Given the description of an element on the screen output the (x, y) to click on. 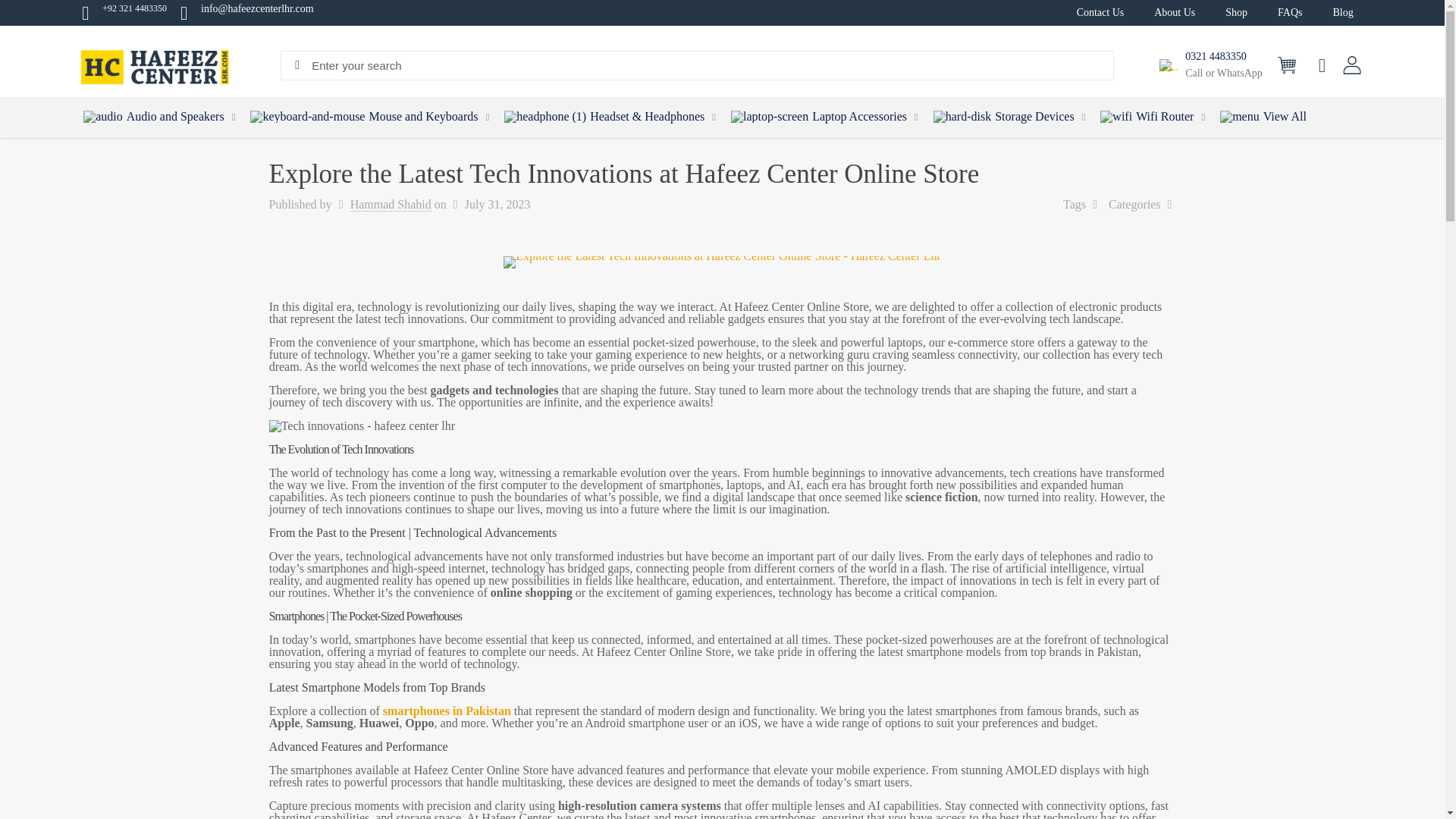
HC Wishlist (1322, 65)
FAQs (1289, 12)
Tech innovations (361, 426)
Blog (1342, 12)
About Us (1173, 12)
Shop (1235, 12)
Contact Us (1100, 12)
